Given the description of an element on the screen output the (x, y) to click on. 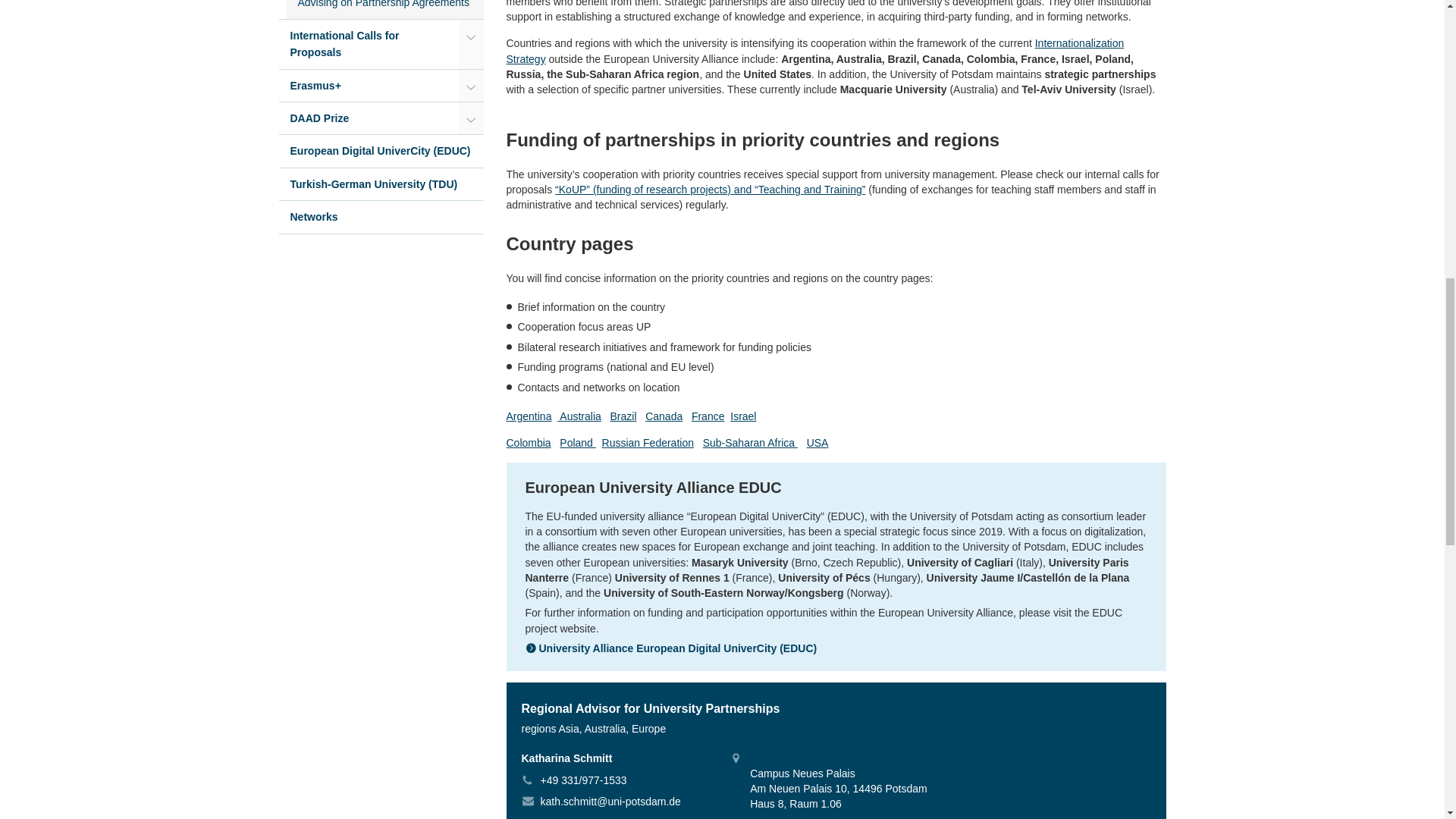
telephone: (529, 780)
